Given the description of an element on the screen output the (x, y) to click on. 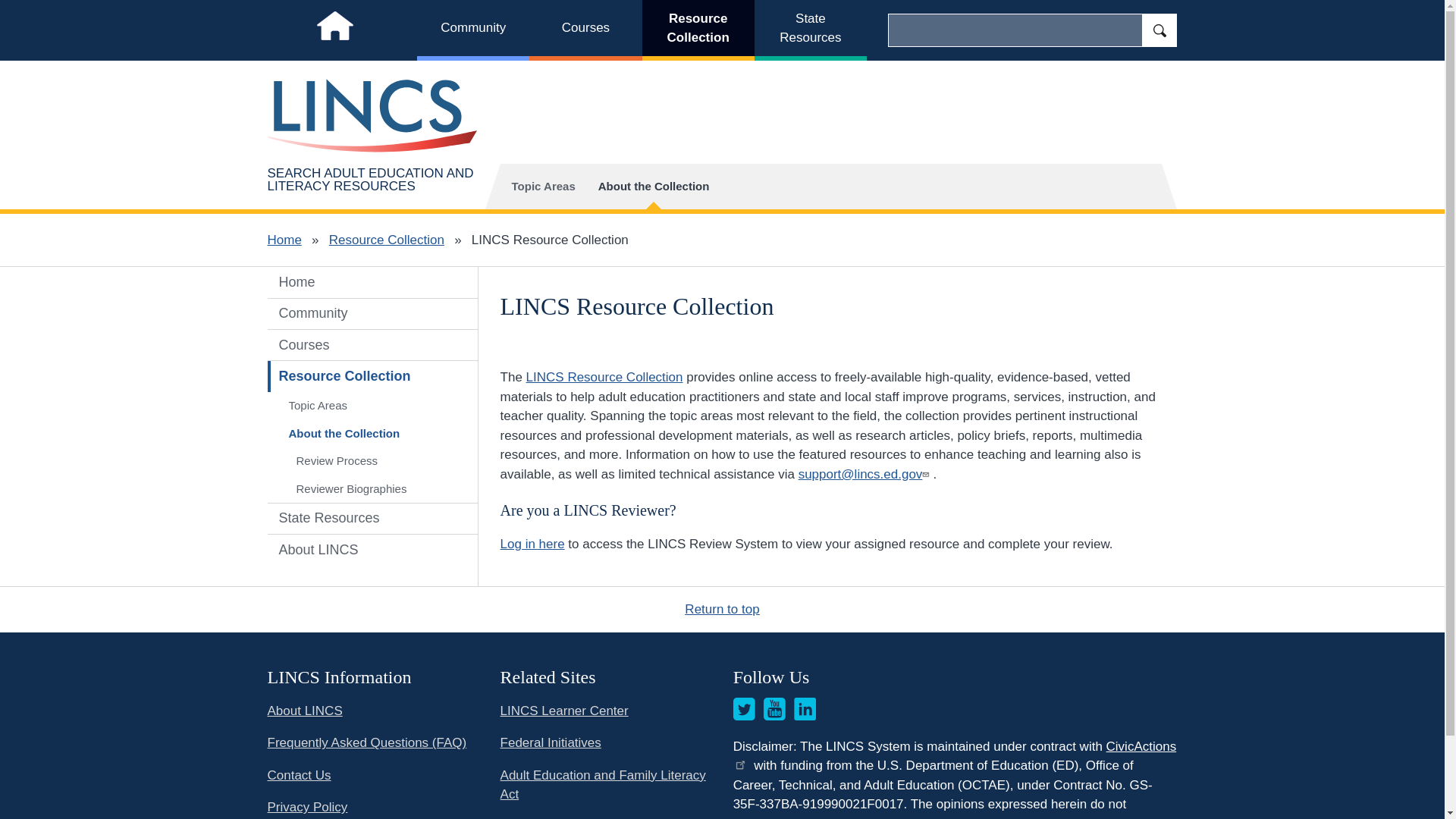
State Resources (810, 30)
Community (472, 30)
Follow LINCS on Twitter! (744, 708)
Resource Collection (698, 30)
LINCS Home Page (372, 114)
Courses (585, 30)
Watch LINCS videos on YouTube! (774, 708)
Join LINCS on LinkedIn! (804, 708)
LINCS Home (333, 30)
